Given the description of an element on the screen output the (x, y) to click on. 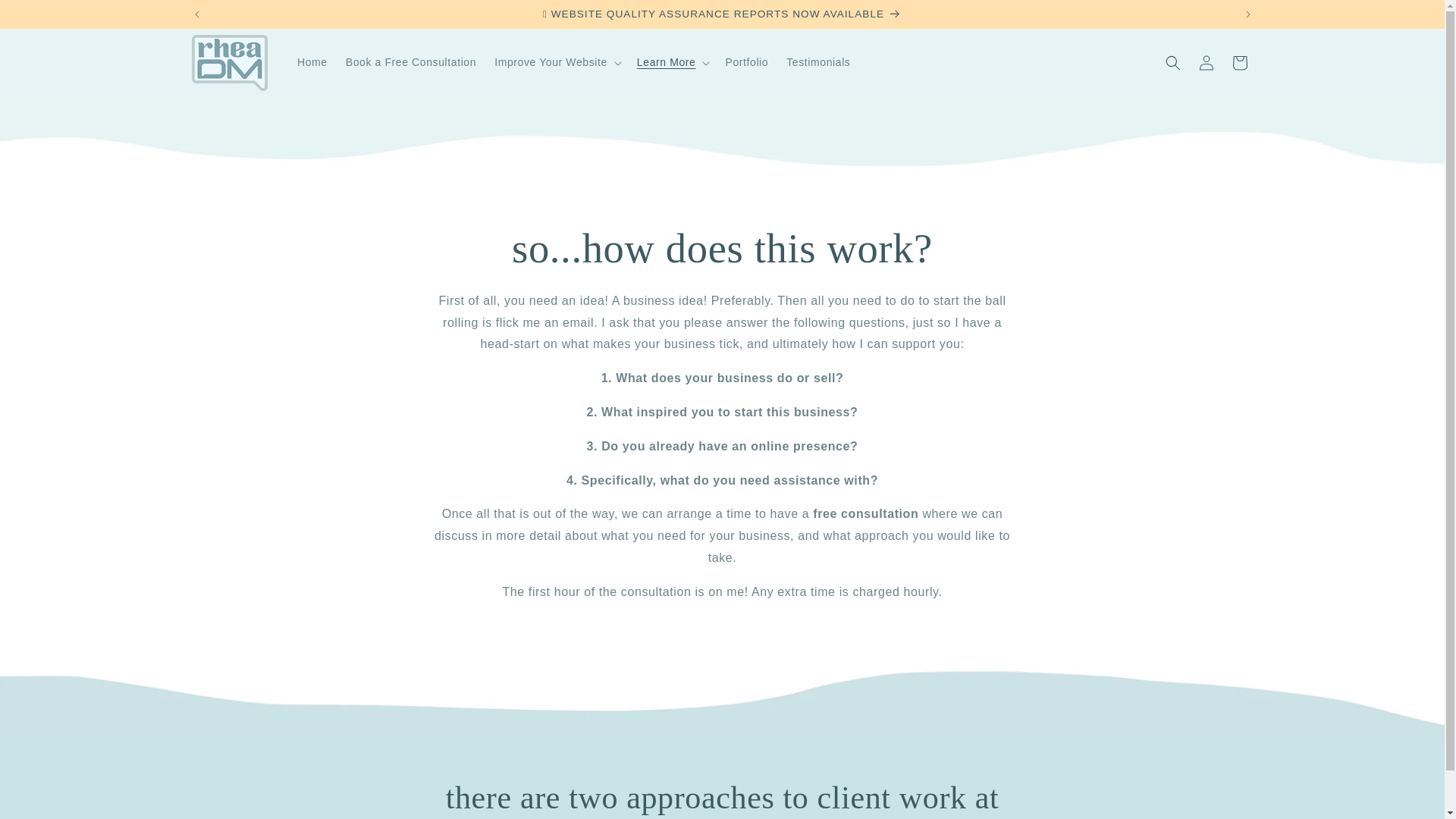
Cart (1239, 61)
Home (312, 61)
Testimonials (818, 61)
Skip to content (46, 18)
Log in (1206, 61)
Book a Free Consultation (410, 61)
Portfolio (746, 61)
